Given the description of an element on the screen output the (x, y) to click on. 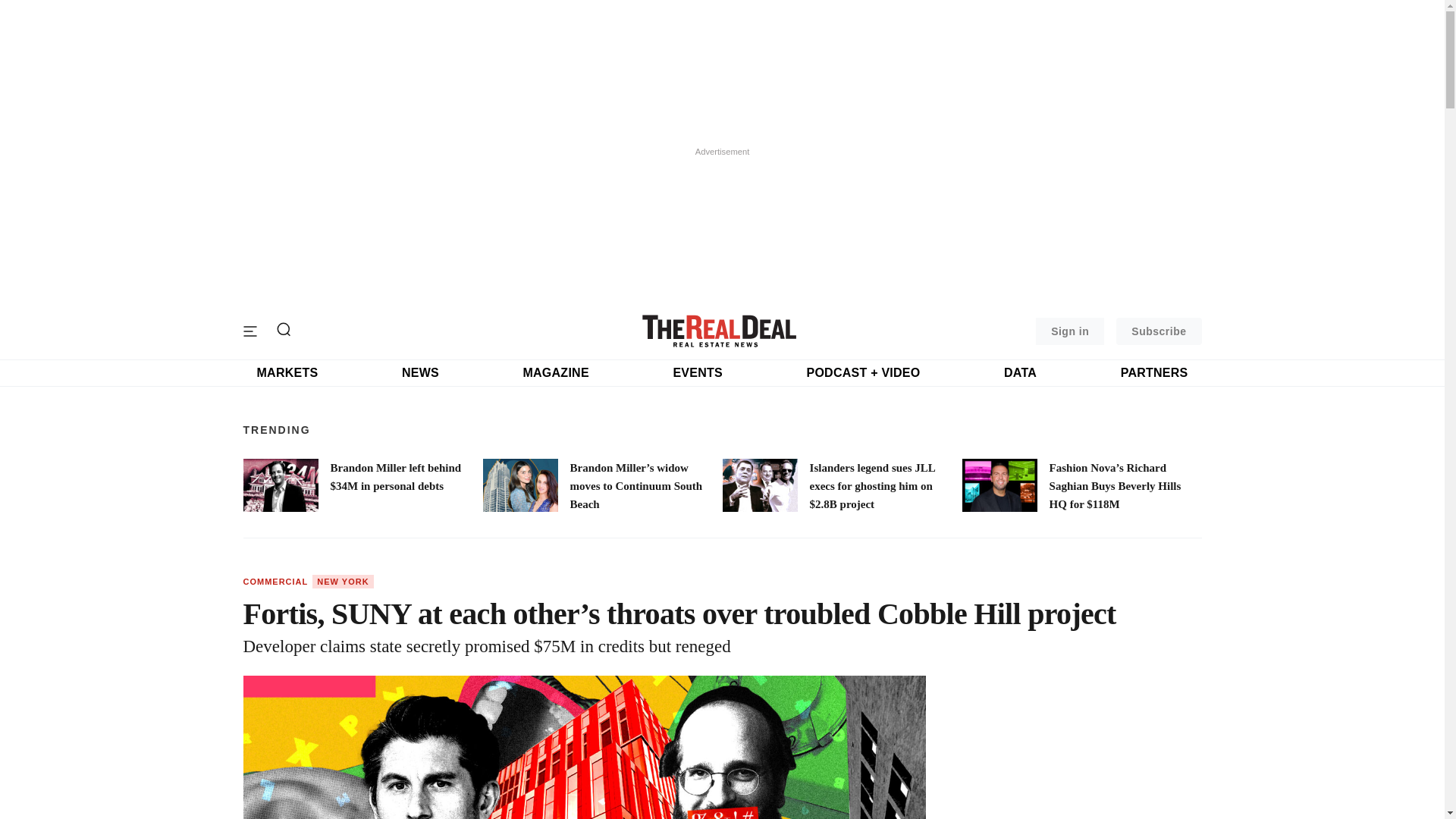
EVENTS (697, 373)
MARKETS (286, 373)
Subscribe (1158, 330)
NEWS (420, 373)
Sign in (1069, 330)
MAGAZINE (555, 373)
